Given the description of an element on the screen output the (x, y) to click on. 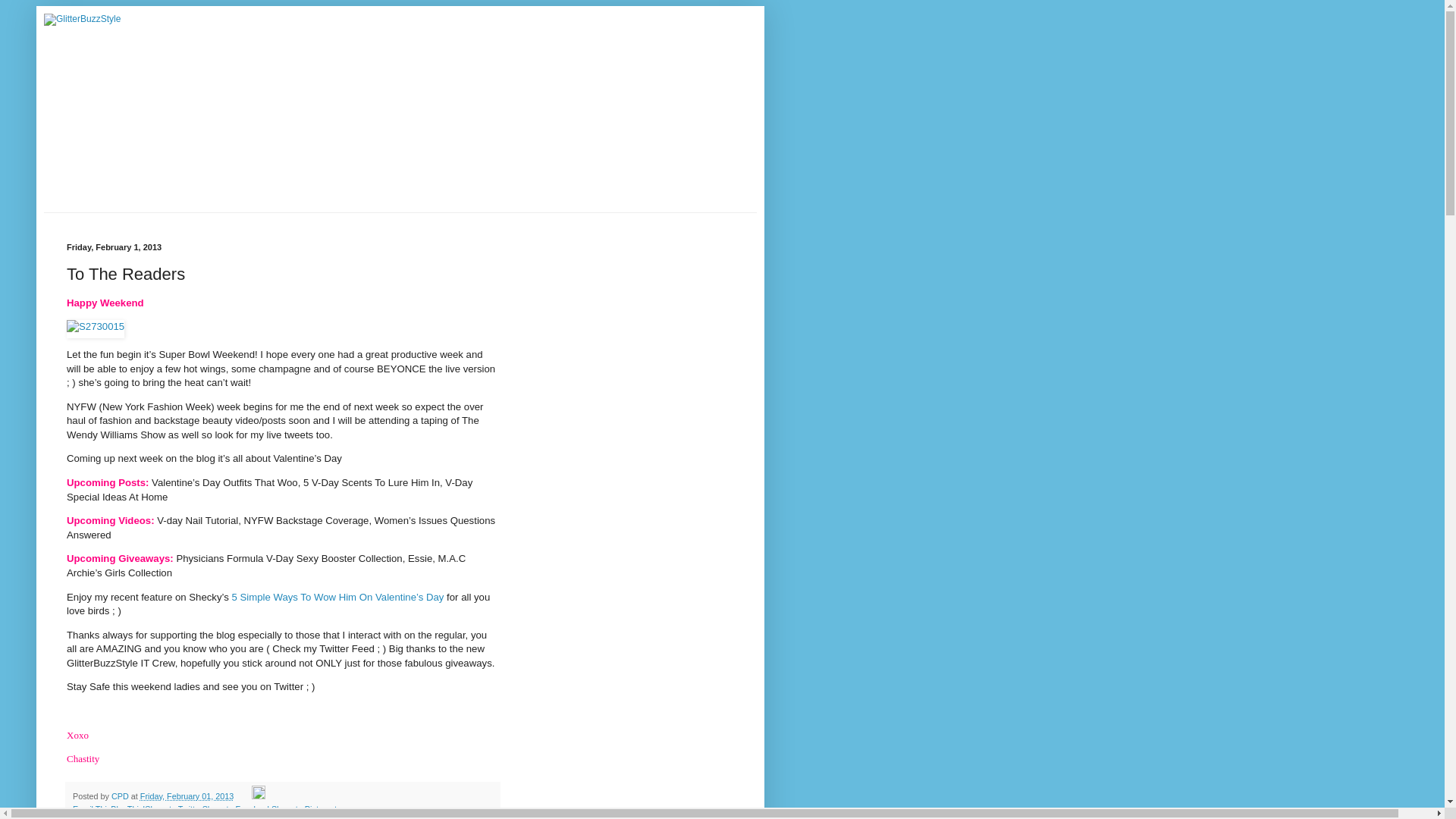
Share to Pinterest (303, 809)
author profile (121, 795)
BlogThis! (127, 809)
S2730015 (94, 328)
Email Post (243, 795)
A Look at Me (124, 818)
Share to Facebook (236, 809)
Share to Twitter (173, 809)
Edit Post (257, 795)
Friday, February 01, 2013 (185, 795)
Share to Twitter (173, 809)
Share to Pinterest (303, 809)
Email This (91, 809)
Share to Facebook (236, 809)
BlogThis! (127, 809)
